Given the description of an element on the screen output the (x, y) to click on. 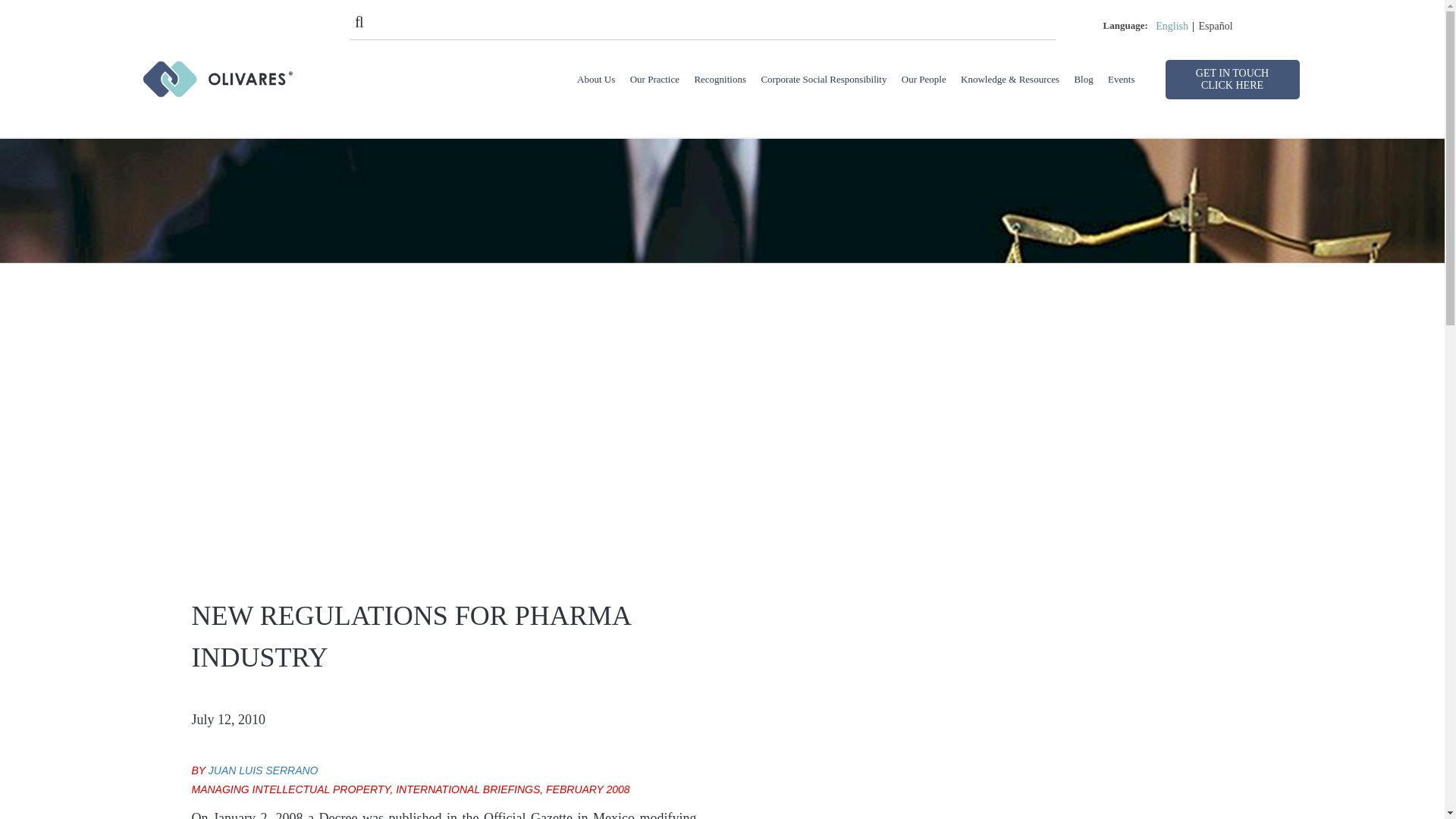
About Us (595, 79)
English (1172, 26)
Corporate Social Responsibility (823, 79)
Recognitions (719, 79)
Our People (923, 79)
Our Practice (654, 79)
